Given the description of an element on the screen output the (x, y) to click on. 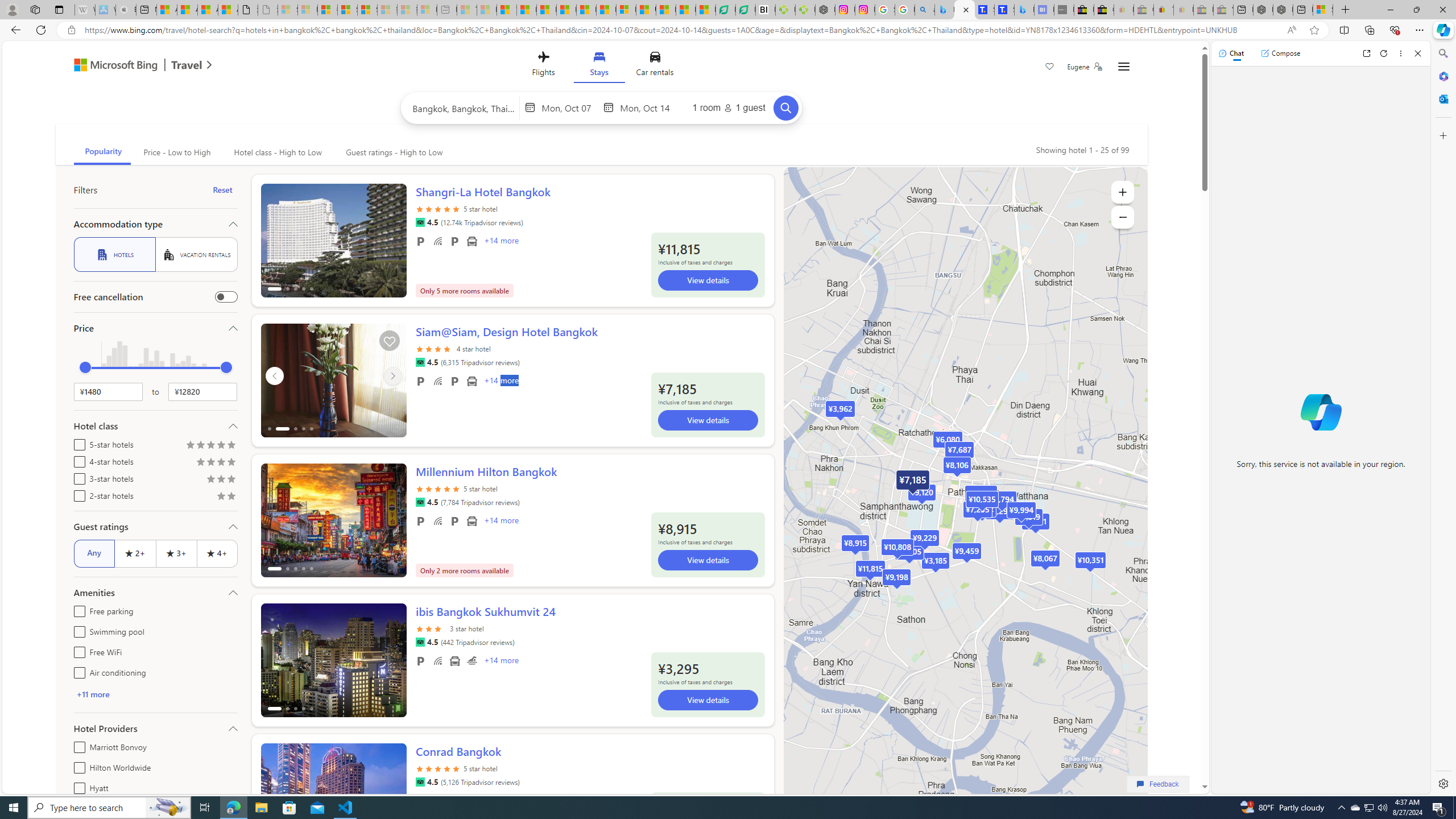
Buy iPad - Apple - Sleeping (125, 9)
Microsoft Bing (110, 65)
Valet parking (454, 520)
2+ (135, 553)
Air conditioning (76, 670)
Drinking tea every day is proven to delay biological aging (565, 9)
Hotel Providers (154, 728)
ScrollRight (391, 795)
New tab - Sleeping (446, 9)
max  (225, 367)
